Given the description of an element on the screen output the (x, y) to click on. 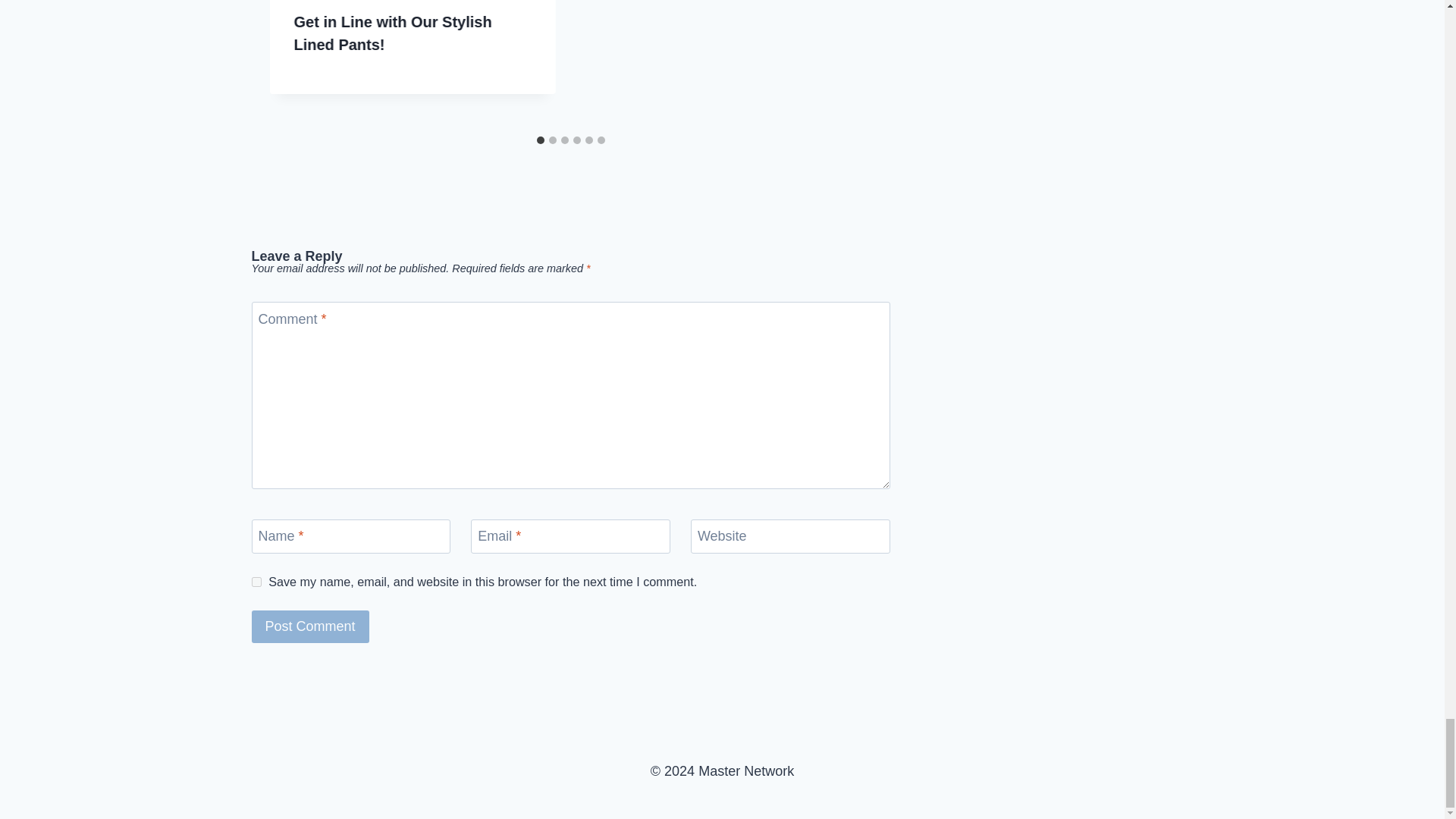
yes (256, 582)
Post Comment (310, 626)
